Given the description of an element on the screen output the (x, y) to click on. 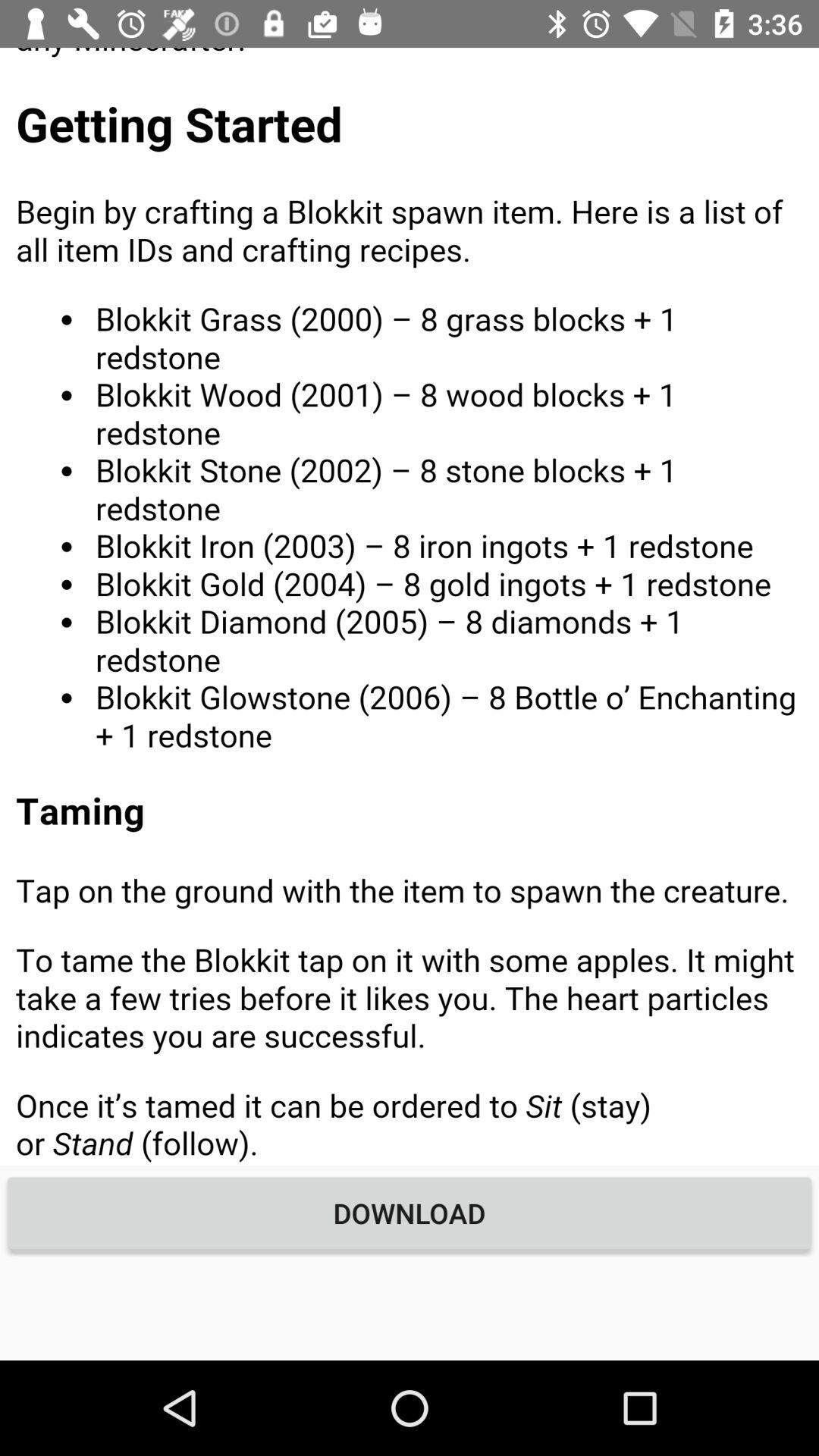
click all text (409, 606)
